Given the description of an element on the screen output the (x, y) to click on. 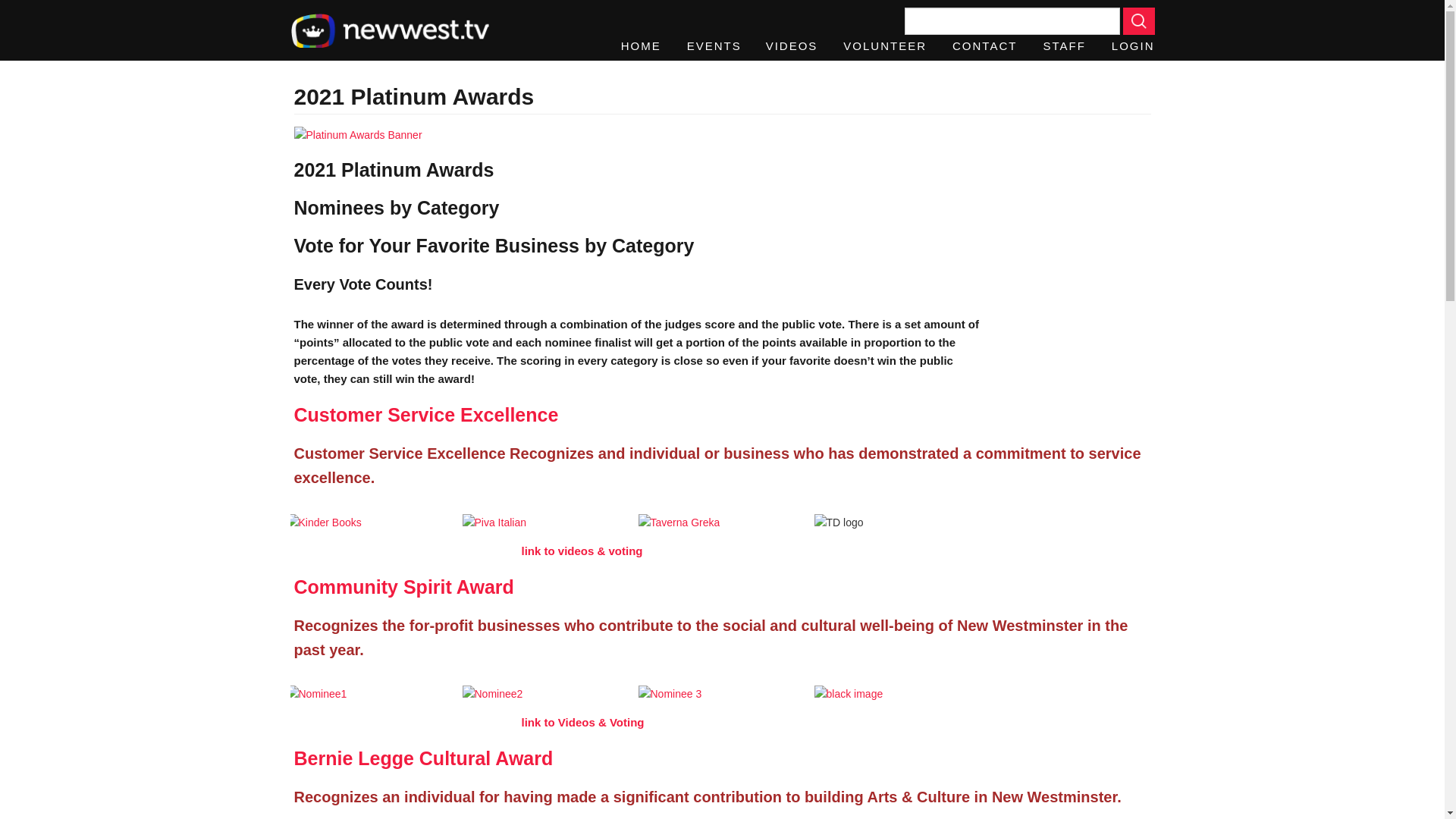
Community Spirit Award (403, 586)
STAFF (1063, 45)
VIDEOS (791, 45)
Apply (1138, 21)
Bernie Legge Cultural Award (423, 758)
HOME (641, 45)
LOGIN (1126, 45)
VOLUNTEER (884, 45)
EVENTS (713, 45)
Customer Service Excellence (426, 414)
CONTACT (984, 45)
Home (389, 30)
